Given the description of an element on the screen output the (x, y) to click on. 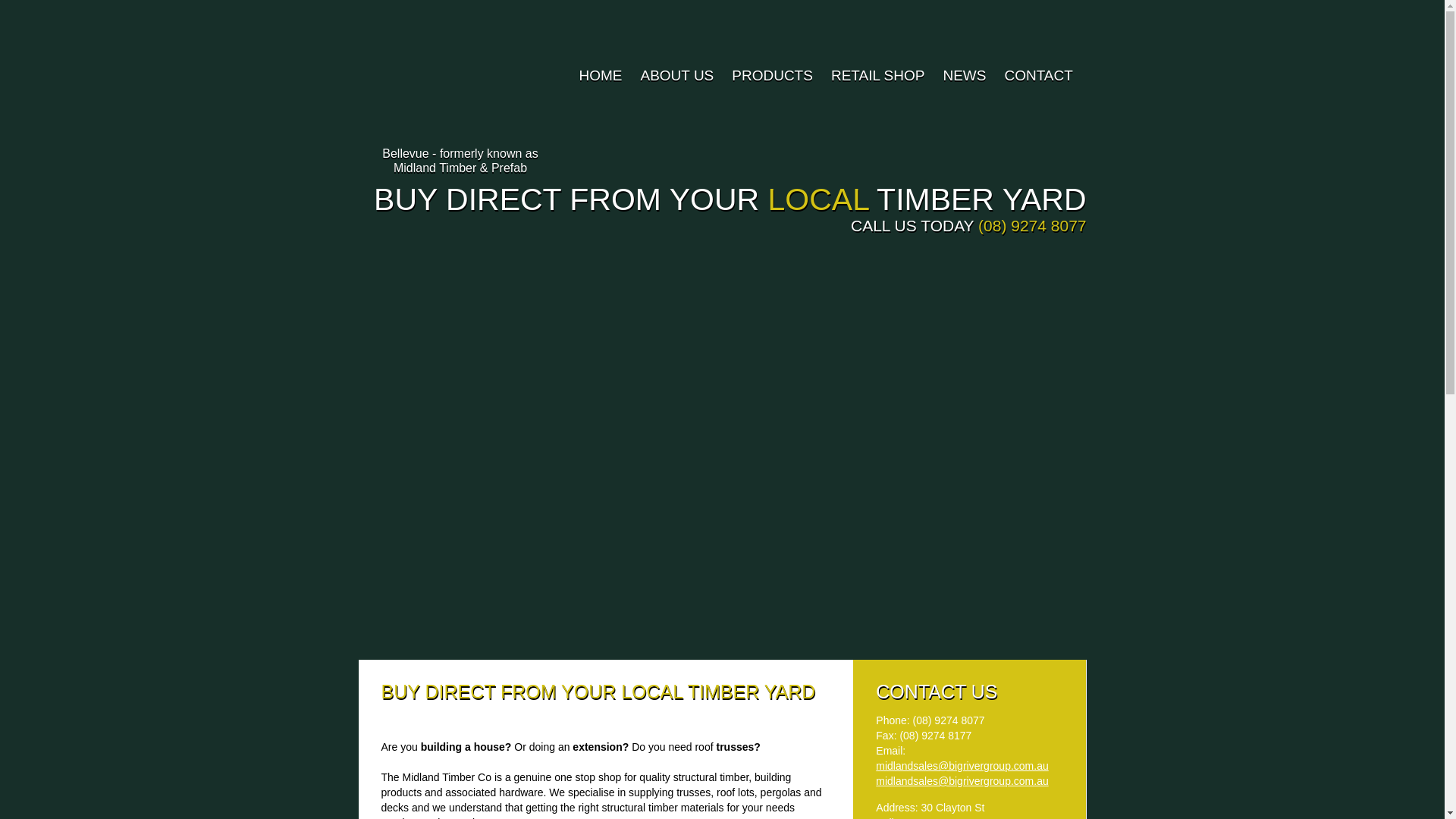
PRODUCTS (770, 75)
RETAIL SHOP (877, 75)
ABOUT US (675, 75)
HOME (599, 75)
CONTACT (1036, 75)
NEWS (962, 75)
